Given the description of an element on the screen output the (x, y) to click on. 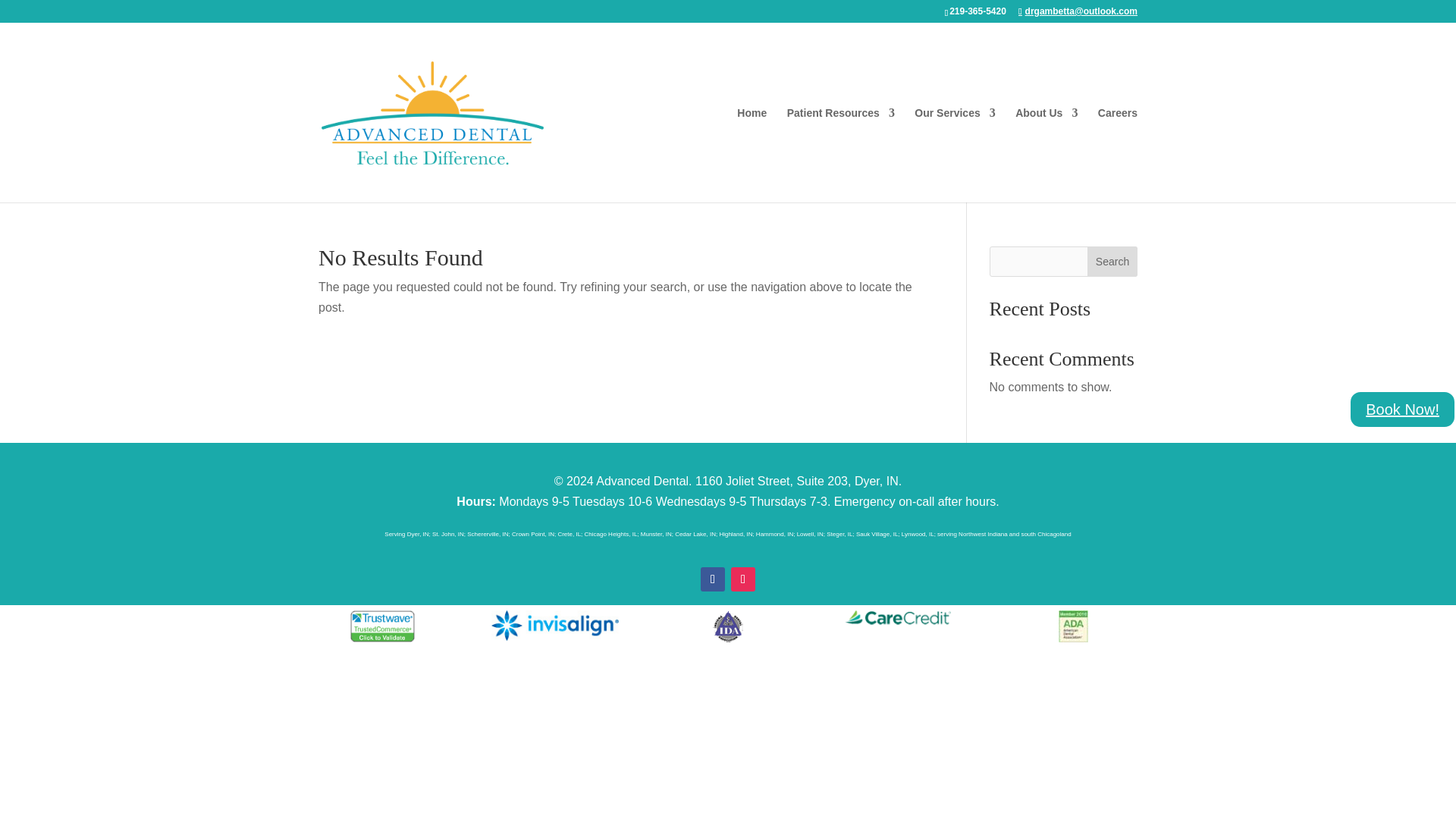
Follow on Facebook (712, 579)
advanced-dental-care-credit (900, 617)
Patient Resources (841, 154)
invisalign (555, 625)
Follow on Instagram (742, 579)
Home (751, 154)
Careers (1117, 154)
About Us (1045, 154)
Search (1112, 261)
Our Services (954, 154)
